Given the description of an element on the screen output the (x, y) to click on. 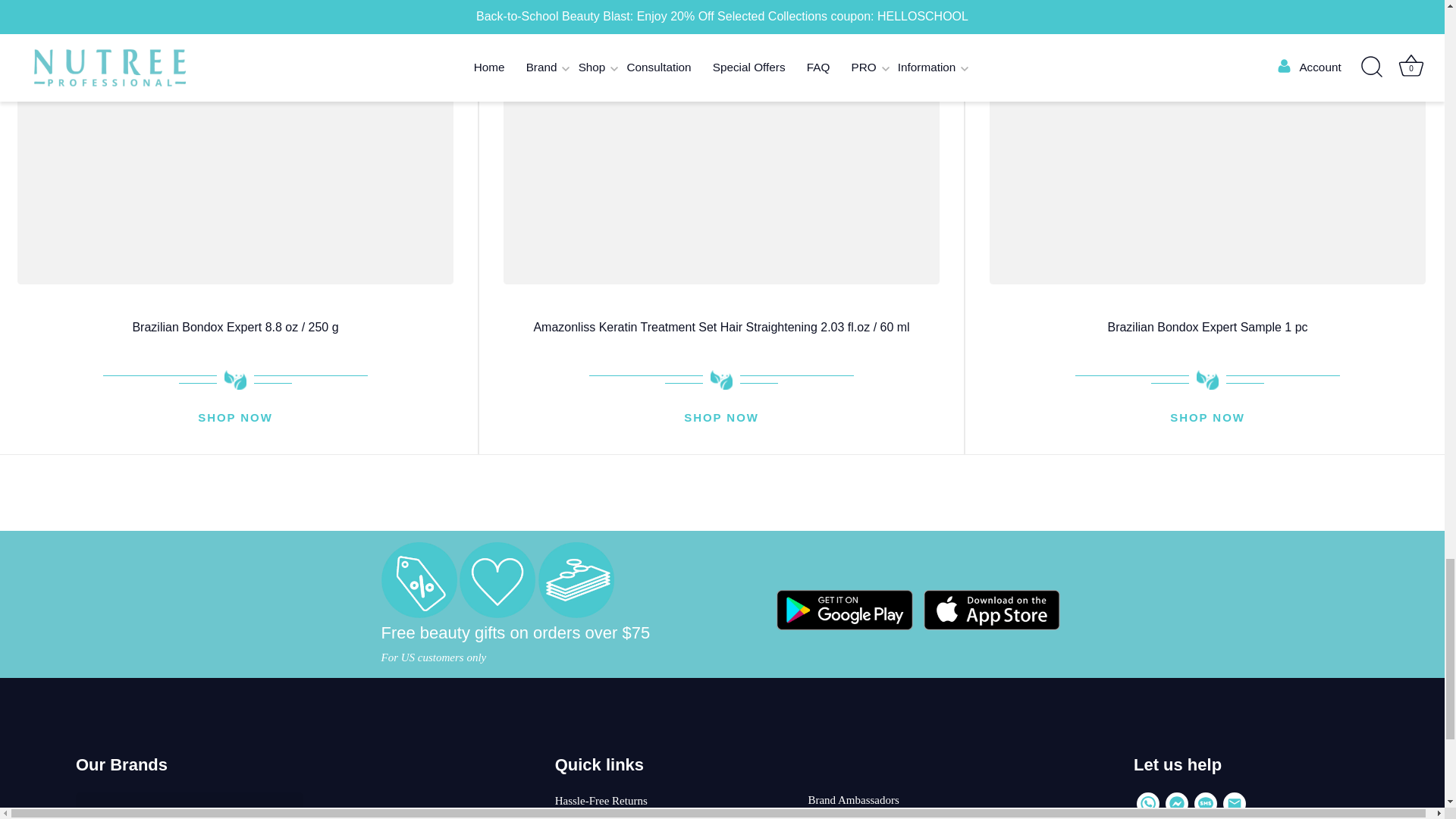
Shop Now (234, 418)
Shop Now (1207, 418)
Shop Now (721, 418)
